Given the description of an element on the screen output the (x, y) to click on. 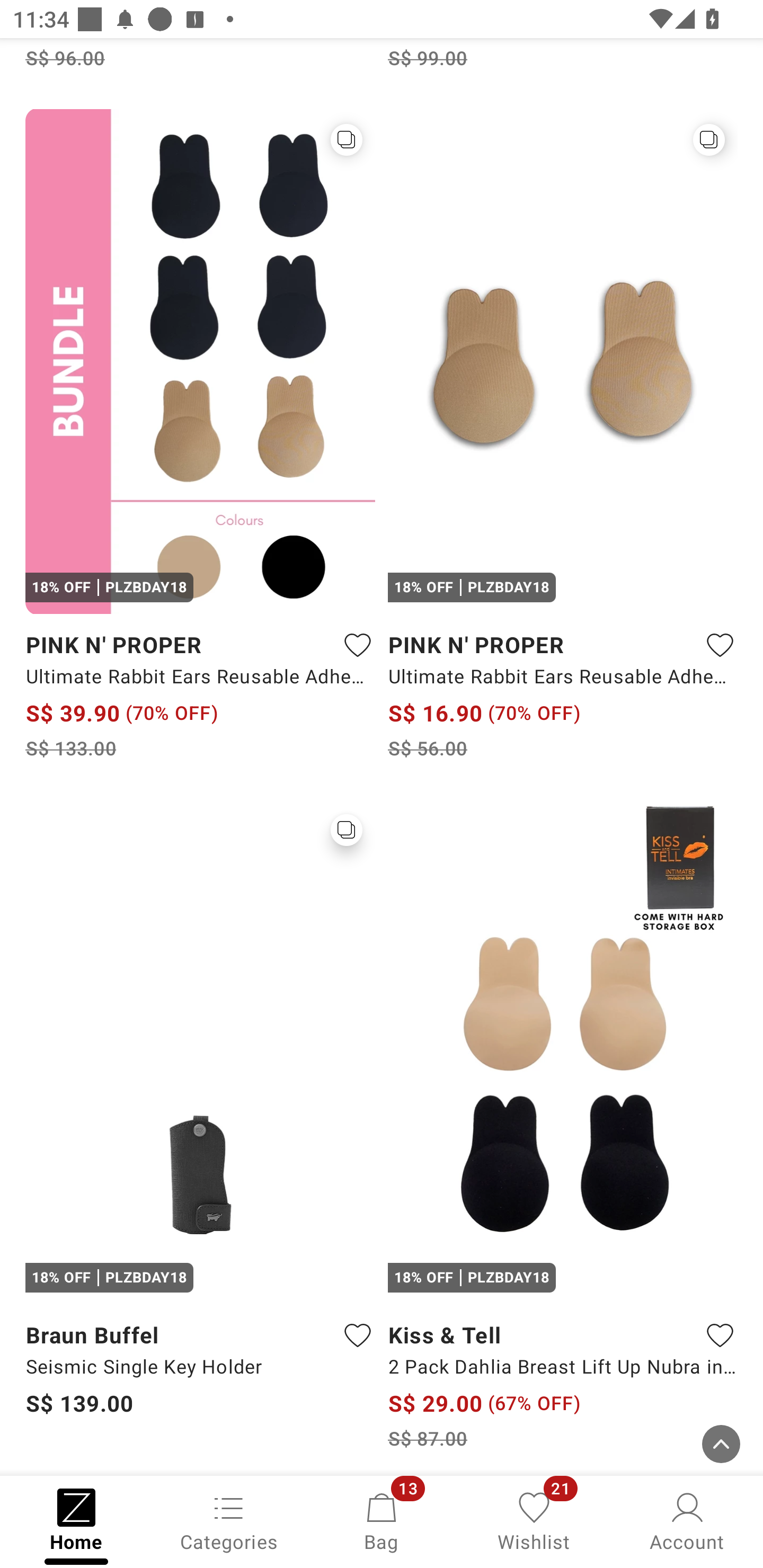
Categories (228, 1519)
Bag, 13 new notifications Bag (381, 1519)
Wishlist, 21 new notifications Wishlist (533, 1519)
Account (686, 1519)
